Given the description of an element on the screen output the (x, y) to click on. 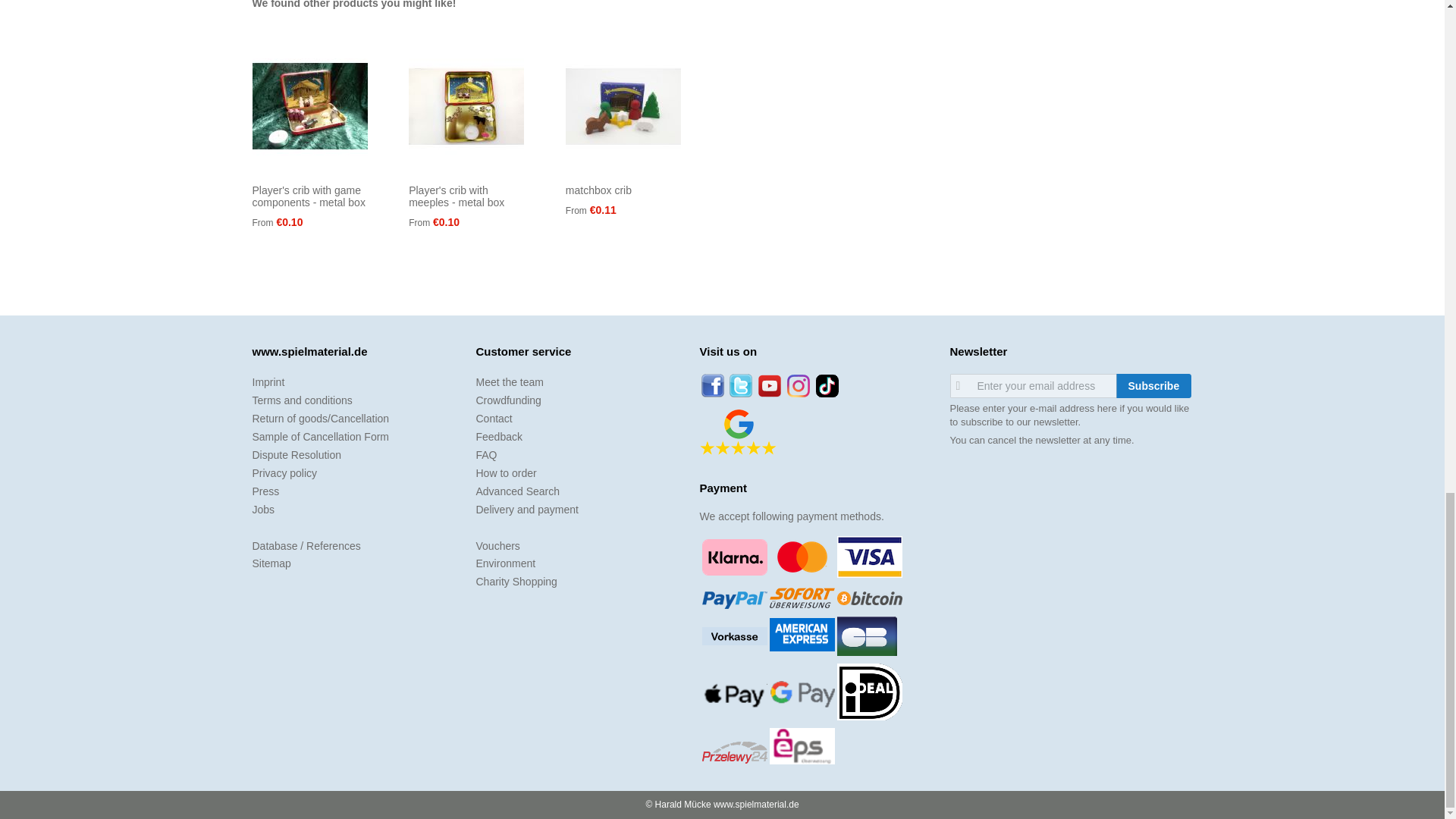
Player's crib with meeples - metal box (456, 196)
YouTube (769, 385)
Subscribe (1154, 385)
Tiktok (826, 385)
Instagram (798, 385)
matchbox crib (598, 190)
Player's crib with game components - metal box (308, 196)
Twitter (740, 385)
Facebook (711, 385)
Google Review (737, 432)
